Given the description of an element on the screen output the (x, y) to click on. 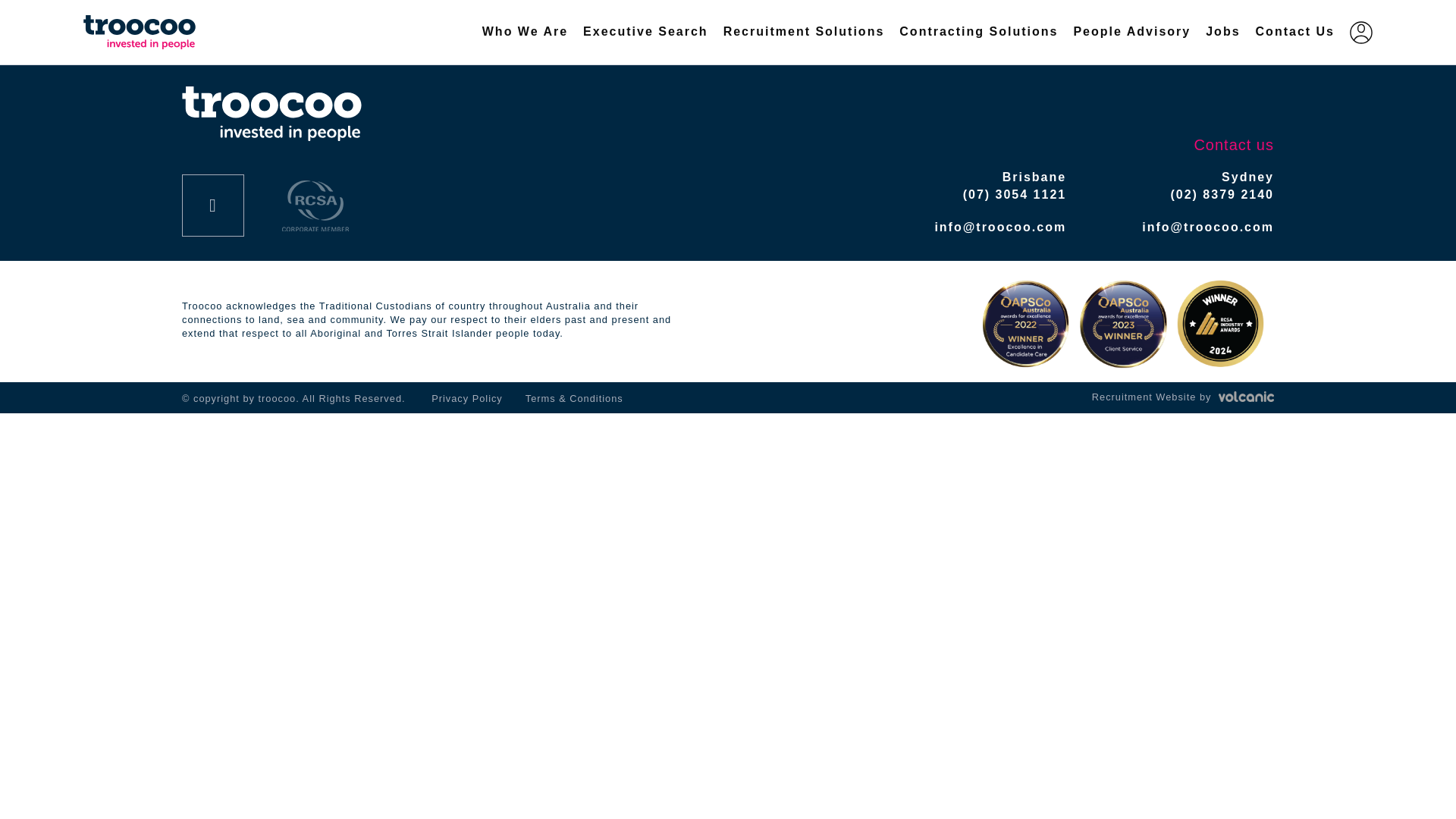
Contact Us (1294, 32)
Jobs (1222, 32)
Troocoo Homepage (271, 113)
Contracting Solutions (978, 32)
Login (1361, 31)
Troocoo Homepage (158, 32)
Executive Search (645, 32)
Recruitment Solutions (804, 32)
Who We Are (524, 32)
People Advisory (1131, 32)
